Given the description of an element on the screen output the (x, y) to click on. 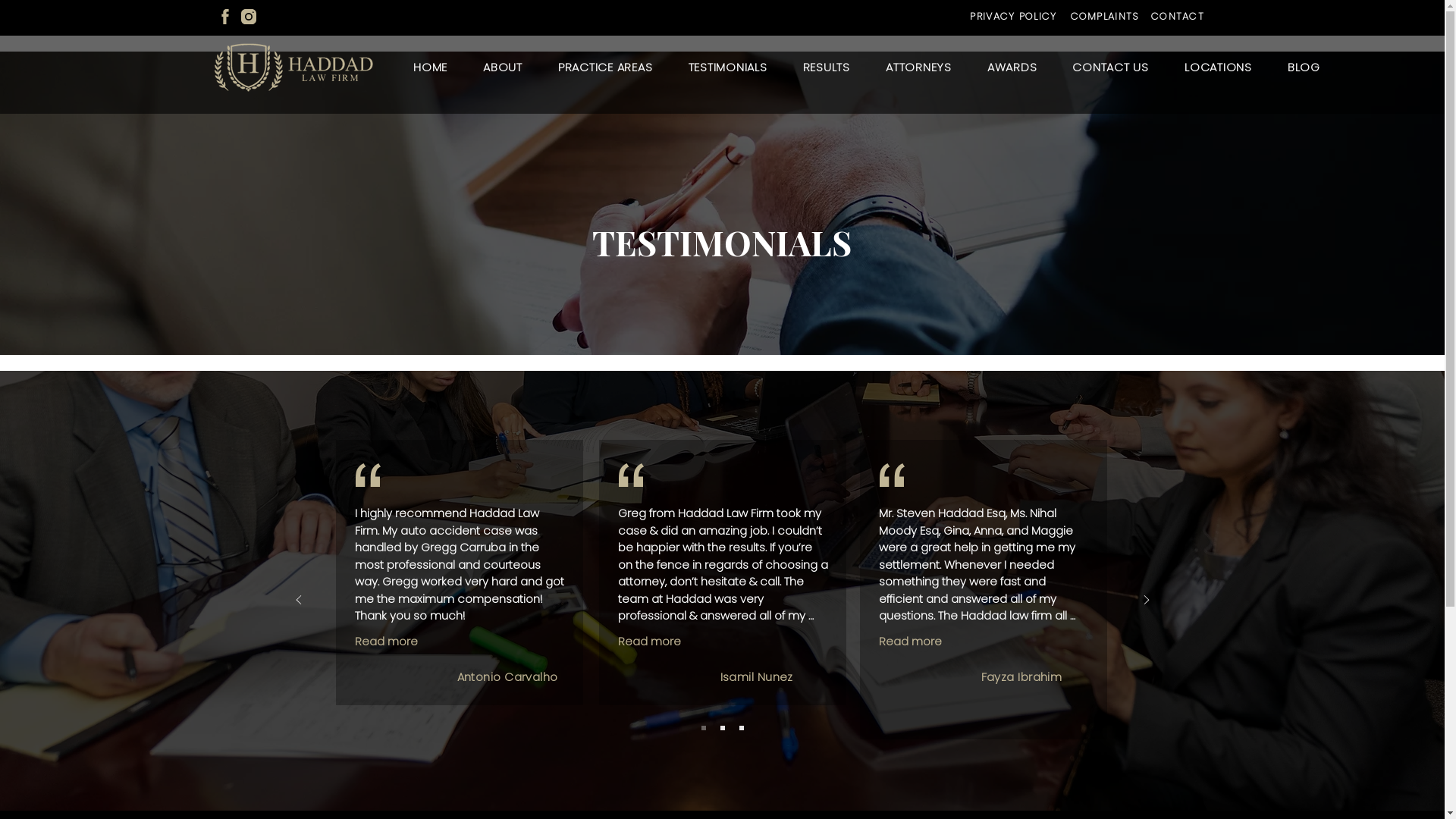
TESTIMONIALS Element type: text (727, 66)
LOCATIONS Element type: text (1217, 66)
Read more Element type: text (648, 640)
AWARDS Element type: text (1011, 66)
CONTACT US Element type: text (1110, 66)
Isamil Nunez Element type: text (756, 676)
Read more Element type: text (909, 640)
ABOUT Element type: text (502, 66)
Read more Element type: text (385, 640)
BLOG Element type: text (1303, 66)
Antonio Carvalho Element type: text (506, 676)
COMPLAINTS Element type: text (1106, 16)
HOME Element type: text (430, 66)
ATTORNEYS Element type: text (918, 66)
RESULTS Element type: text (825, 66)
PRIVACY POLICY Element type: text (1015, 16)
Fayza Ibrahim Element type: text (1021, 676)
CONTACT Element type: text (1178, 16)
